Given the description of an element on the screen output the (x, y) to click on. 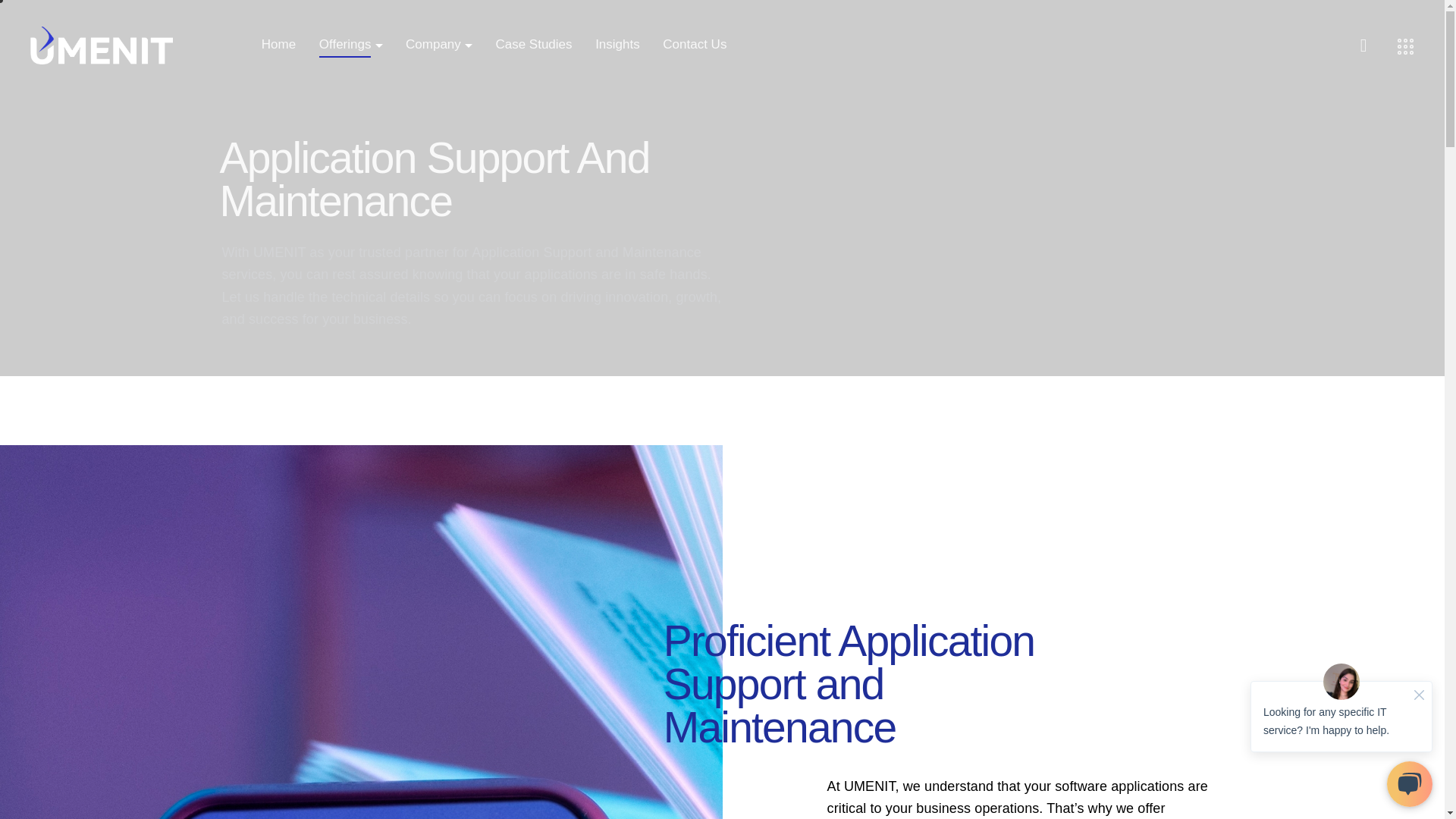
Home (278, 45)
Offerings (344, 45)
